Given the description of an element on the screen output the (x, y) to click on. 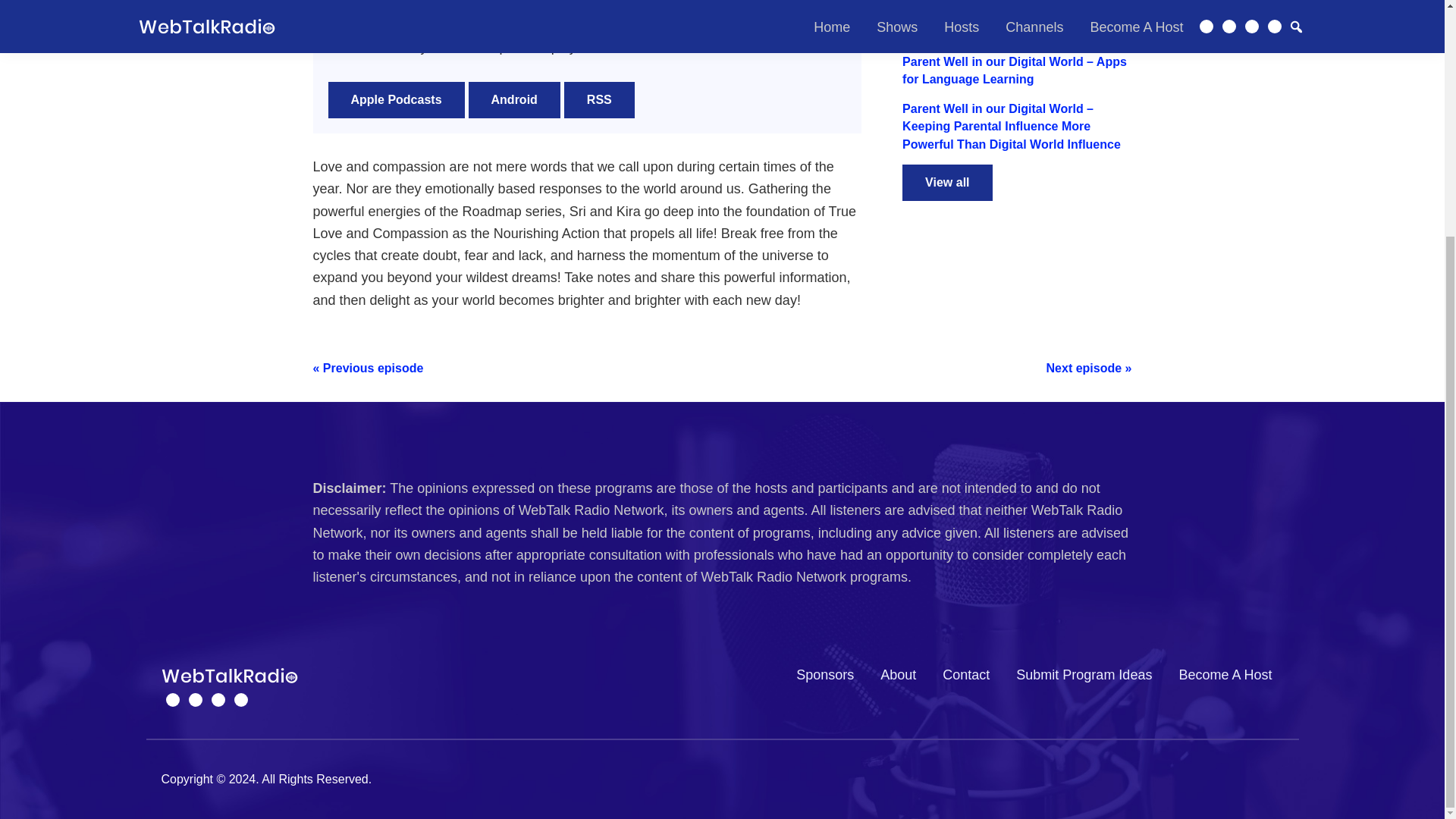
Play in new window (433, 25)
Apple Podcasts (395, 99)
From your favorite podcast player, subscribe here (599, 99)
Play in new window (433, 25)
RSS (599, 99)
Android (514, 99)
Play (347, 2)
Mute (644, 2)
Download (508, 25)
View all (946, 182)
Download (508, 25)
